Given the description of an element on the screen output the (x, y) to click on. 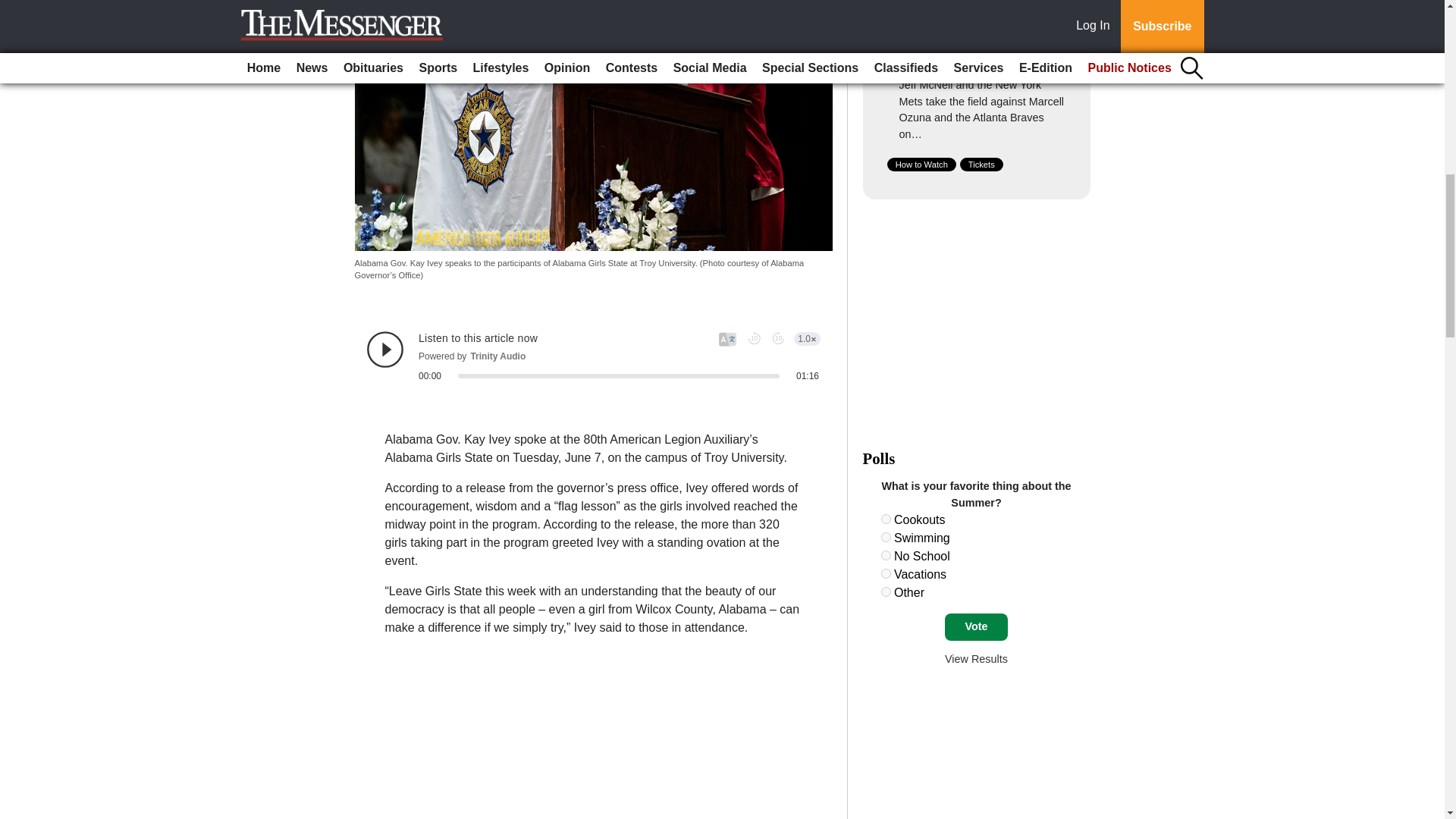
   Vote    (975, 626)
7276 (885, 555)
7274 (885, 519)
Trinity Audio Player (592, 356)
7277 (885, 573)
View Results Of This Poll (975, 658)
7278 (885, 592)
7275 (885, 537)
